Given the description of an element on the screen output the (x, y) to click on. 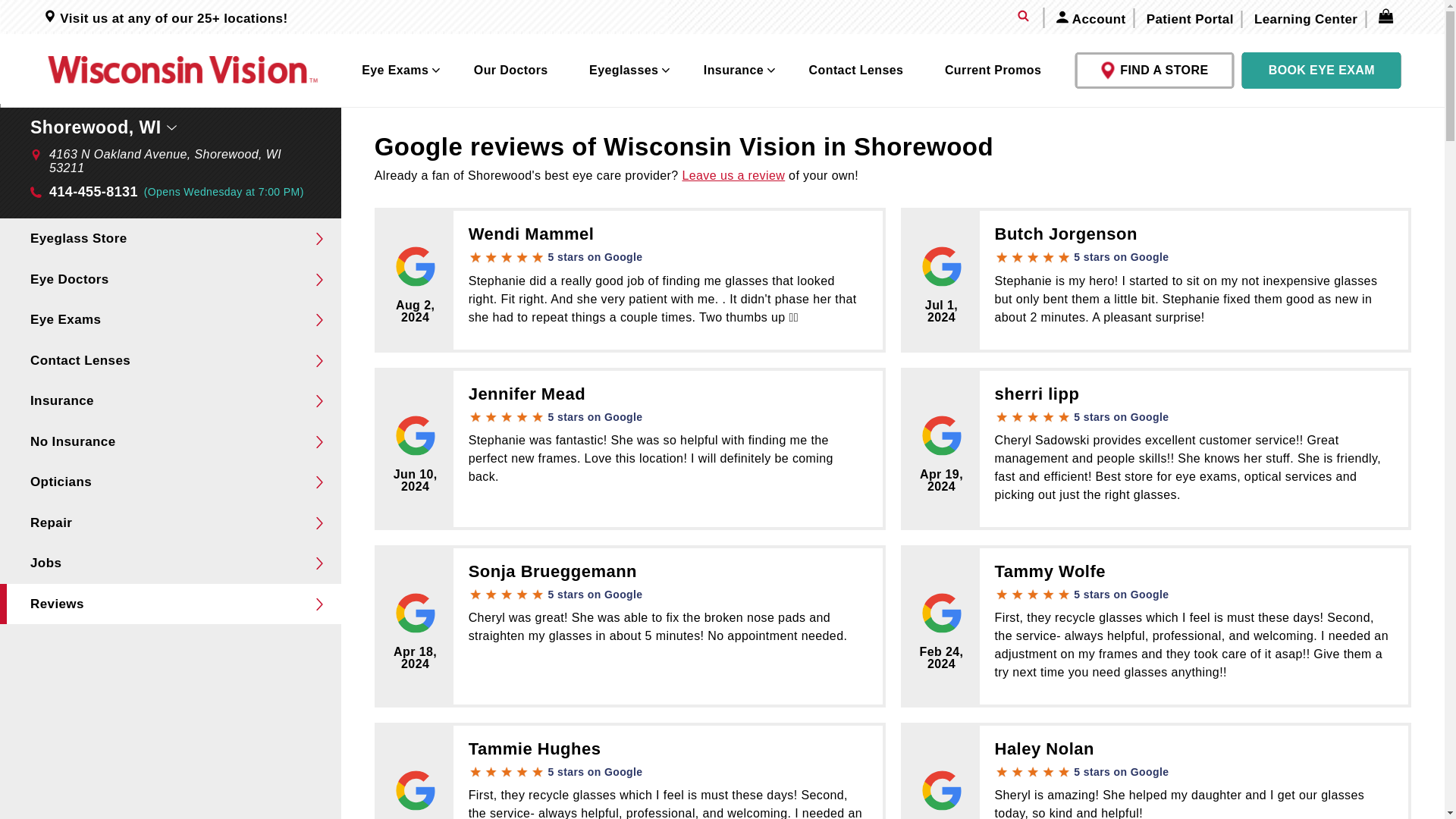
Learning Center (1305, 18)
Eye Exams (396, 70)
Eyeglasses (624, 70)
Account (1090, 17)
Insurance (734, 70)
Our Doctors (510, 70)
Get the best value, with or without insurance (734, 70)
Shop glasses online (624, 70)
Eye Exams (396, 70)
Patient Portal (1189, 18)
